Given the description of an element on the screen output the (x, y) to click on. 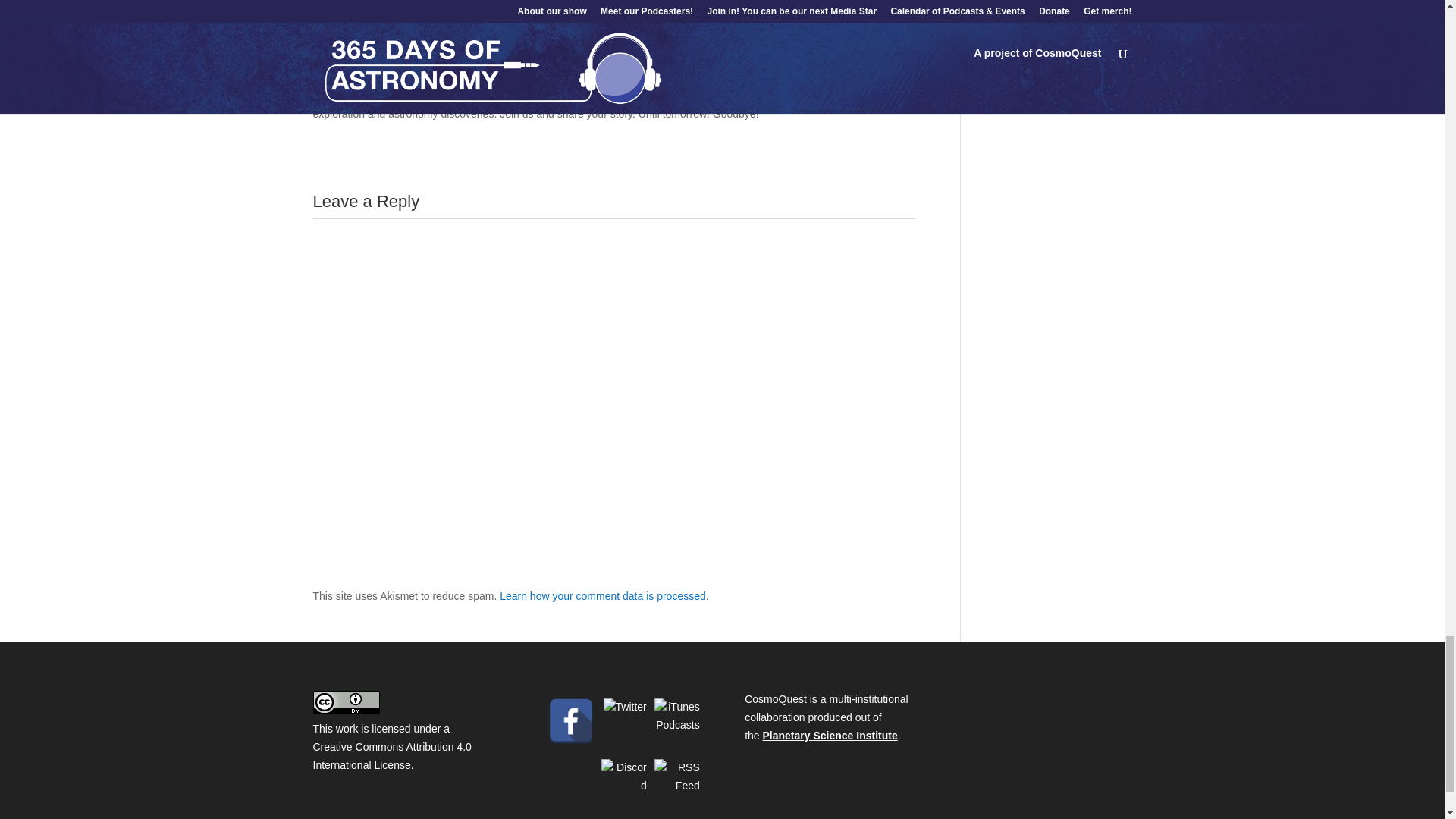
iTunes Podcasts (676, 720)
Discord (623, 781)
Twitter (623, 720)
RSS Feed (676, 781)
libsyn.com (445, 4)
Learn how your comment data is processed (602, 595)
Facebook (571, 720)
